Given the description of an element on the screen output the (x, y) to click on. 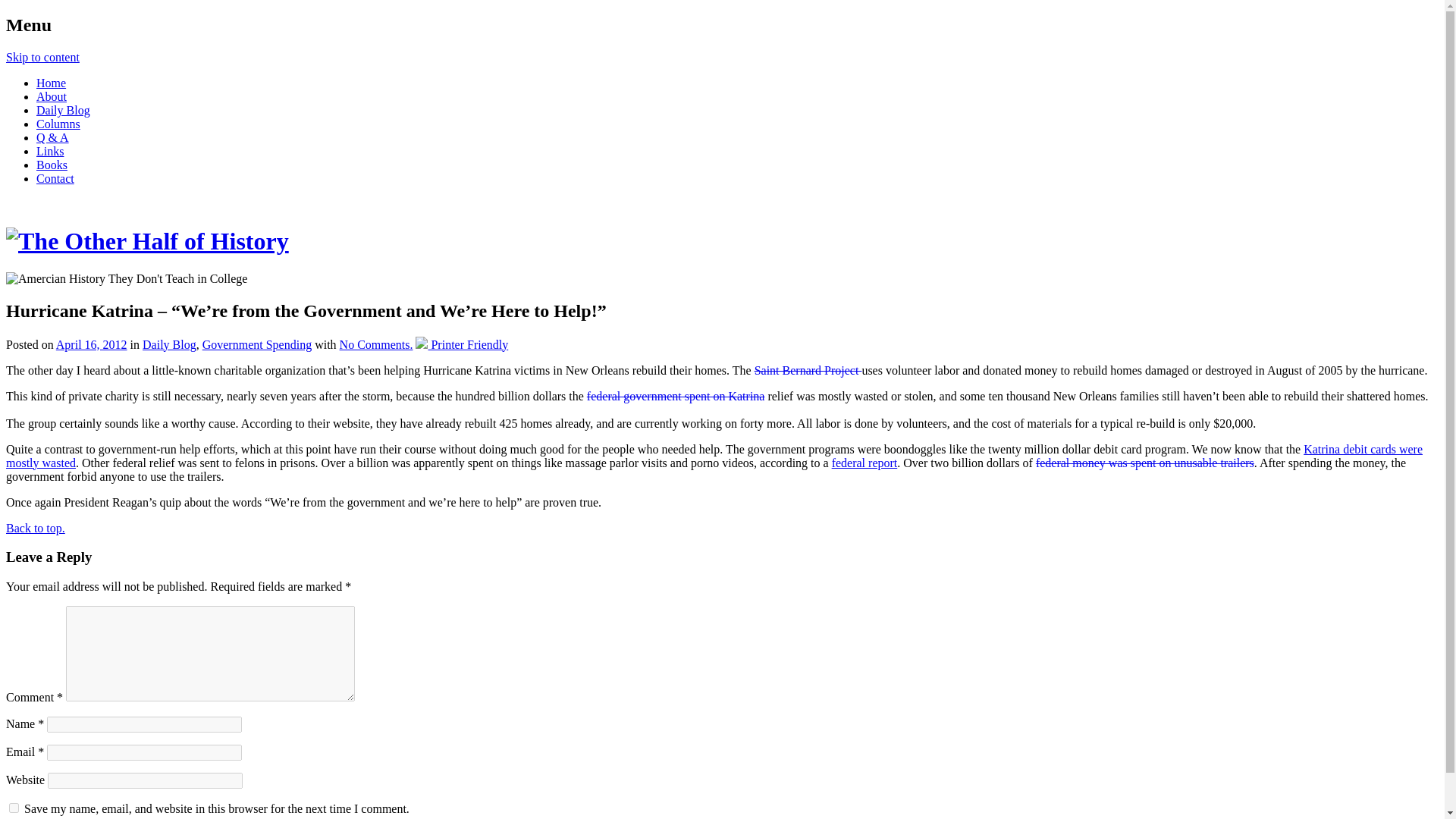
Saint Bernard Project (807, 369)
federal government spent on Katrina (675, 395)
About (51, 96)
Waste and fraud, as usual (864, 462)
Books (51, 164)
Back to top. (35, 527)
April 16, 2012 (92, 344)
Columns (58, 123)
Home (50, 82)
Federal spending on Katrina (675, 395)
